Given the description of an element on the screen output the (x, y) to click on. 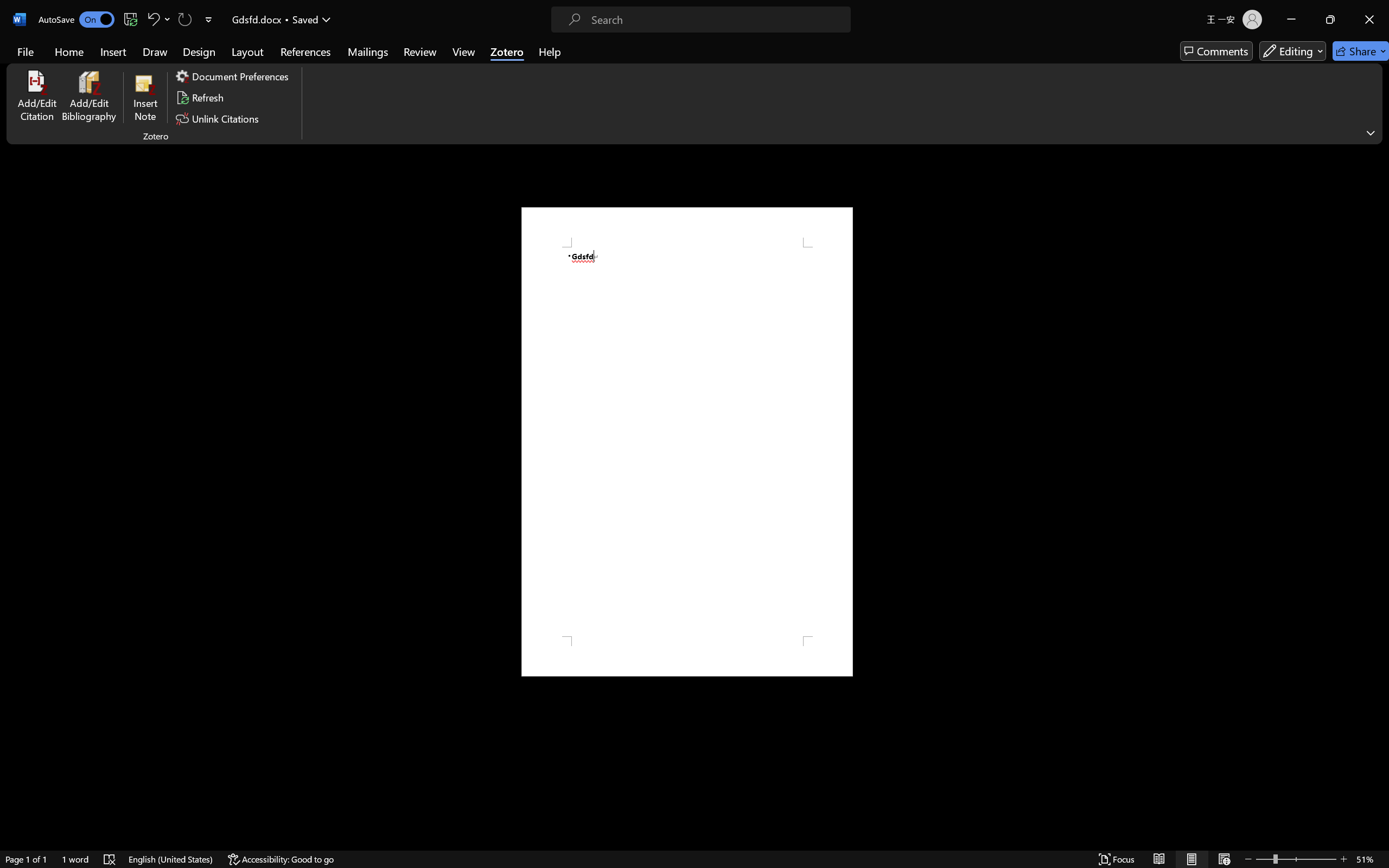
Page 1 content (686, 441)
